Given the description of an element on the screen output the (x, y) to click on. 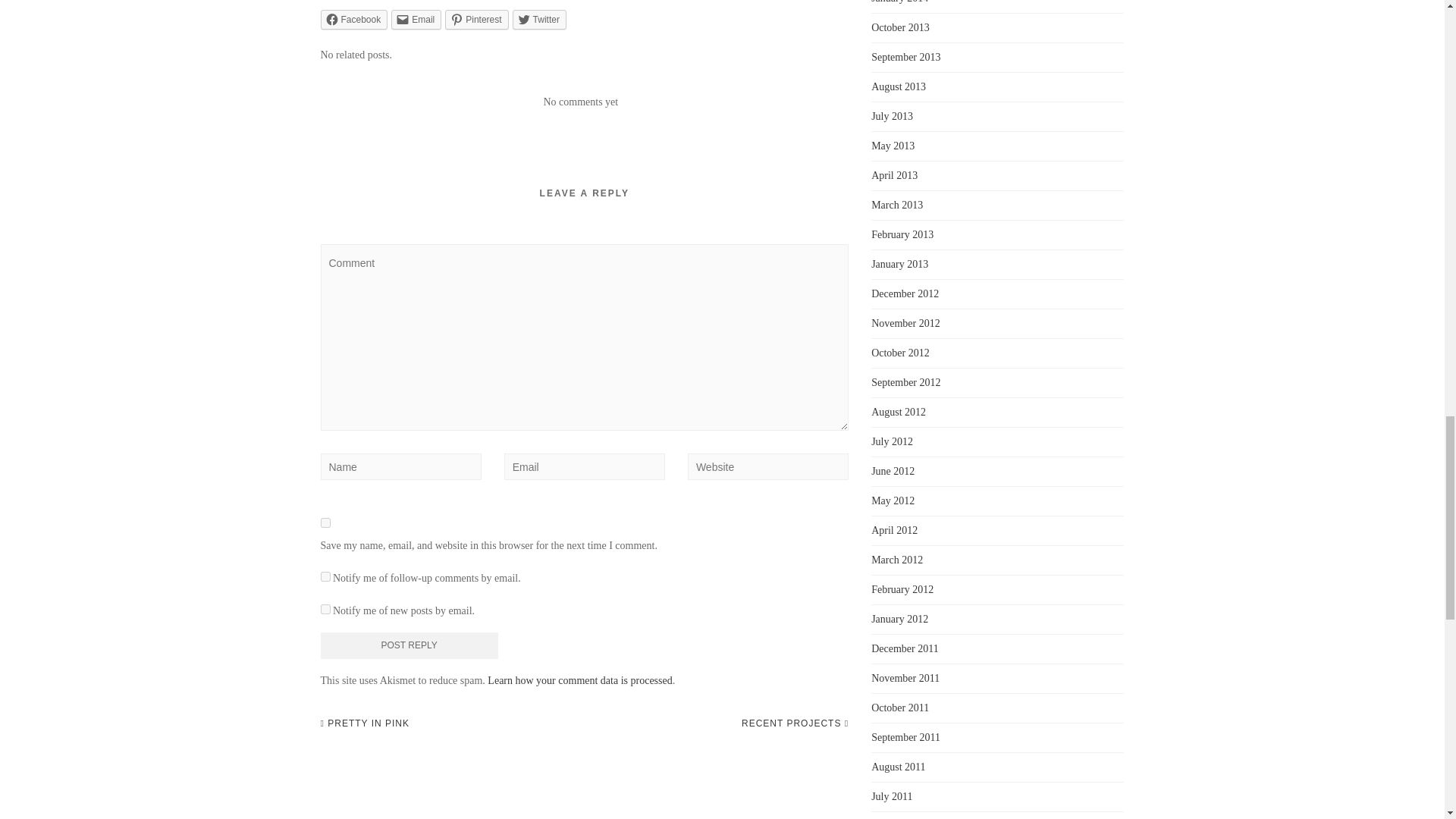
yes (325, 522)
PRETTY IN PINK (364, 723)
Click to share on Twitter (539, 19)
RECENT PROJECTS (794, 723)
subscribe (325, 576)
Post Reply (408, 645)
Click to email this to a friend (416, 19)
Facebook (353, 19)
Twitter (539, 19)
Click to share on Pinterest (476, 19)
Pinterest (476, 19)
subscribe (325, 609)
Learn how your comment data is processed (579, 680)
No comments yet (580, 101)
Click to share on Facebook (353, 19)
